Given the description of an element on the screen output the (x, y) to click on. 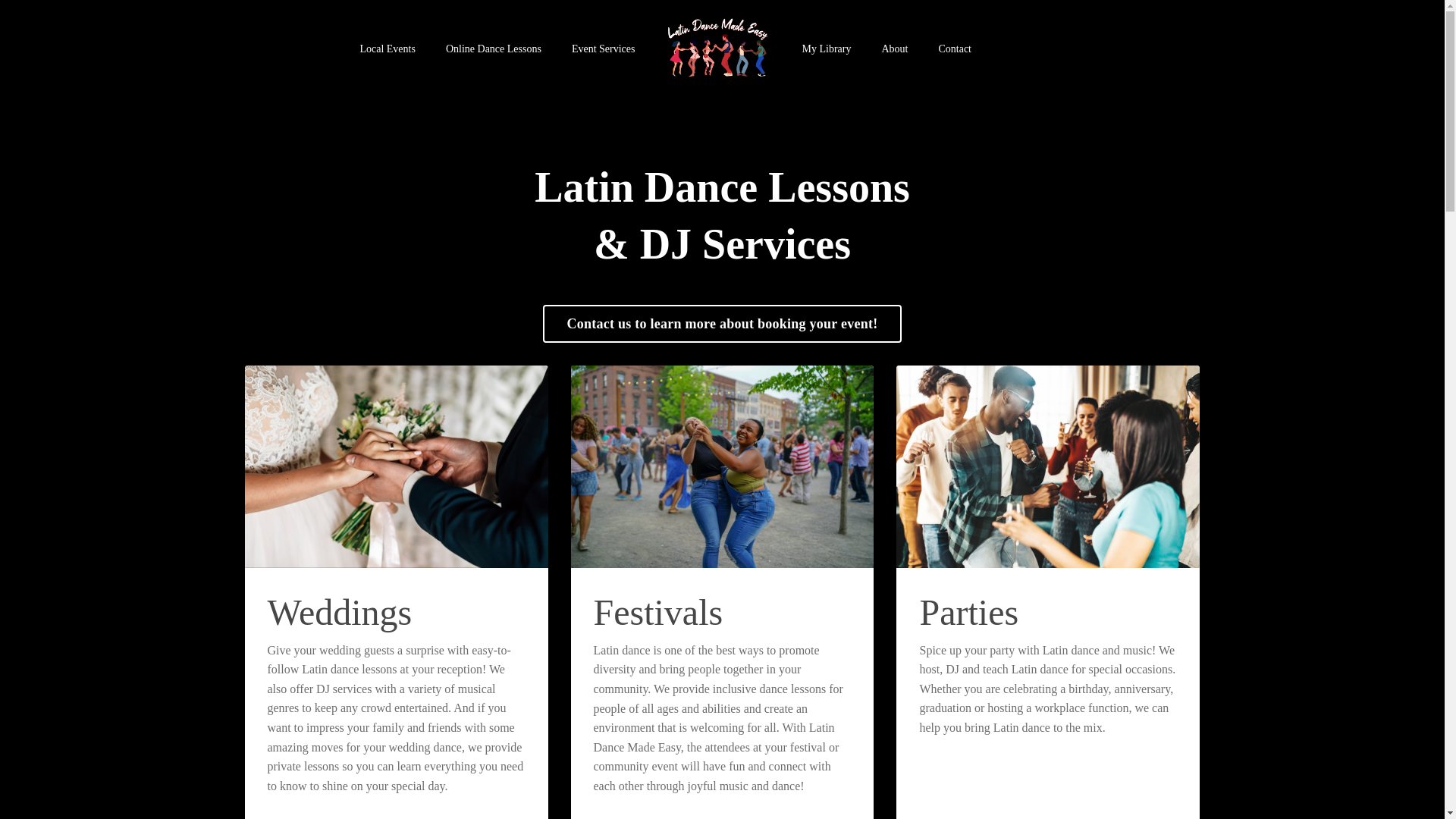
Contact us to learn more about booking your event! (722, 323)
Local Events (386, 48)
Contact (954, 48)
My Library (826, 48)
Event Services (603, 48)
About (893, 48)
Online Dance Lessons (493, 48)
